Given the description of an element on the screen output the (x, y) to click on. 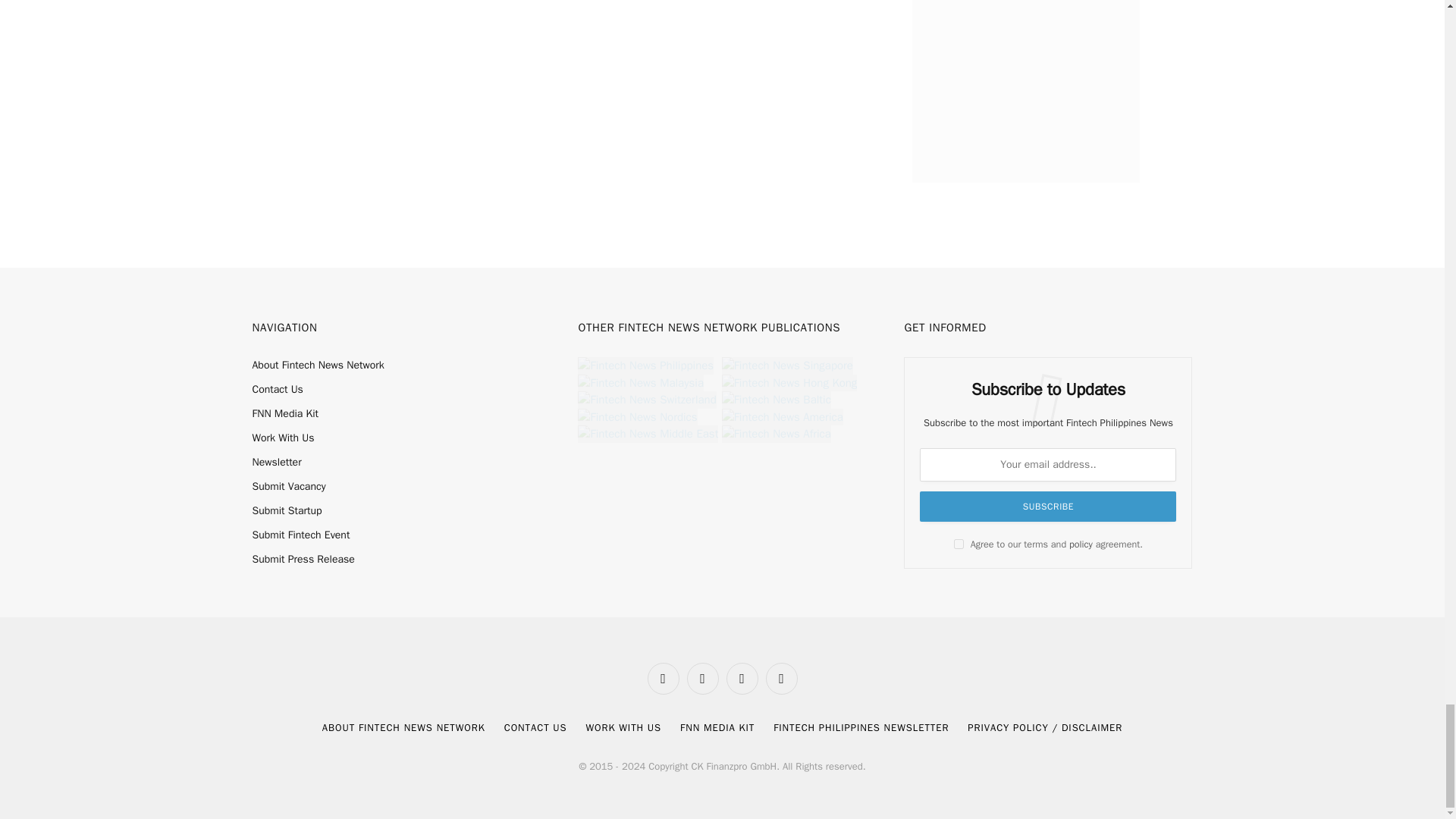
on (958, 543)
Subscribe (1048, 506)
